Given the description of an element on the screen output the (x, y) to click on. 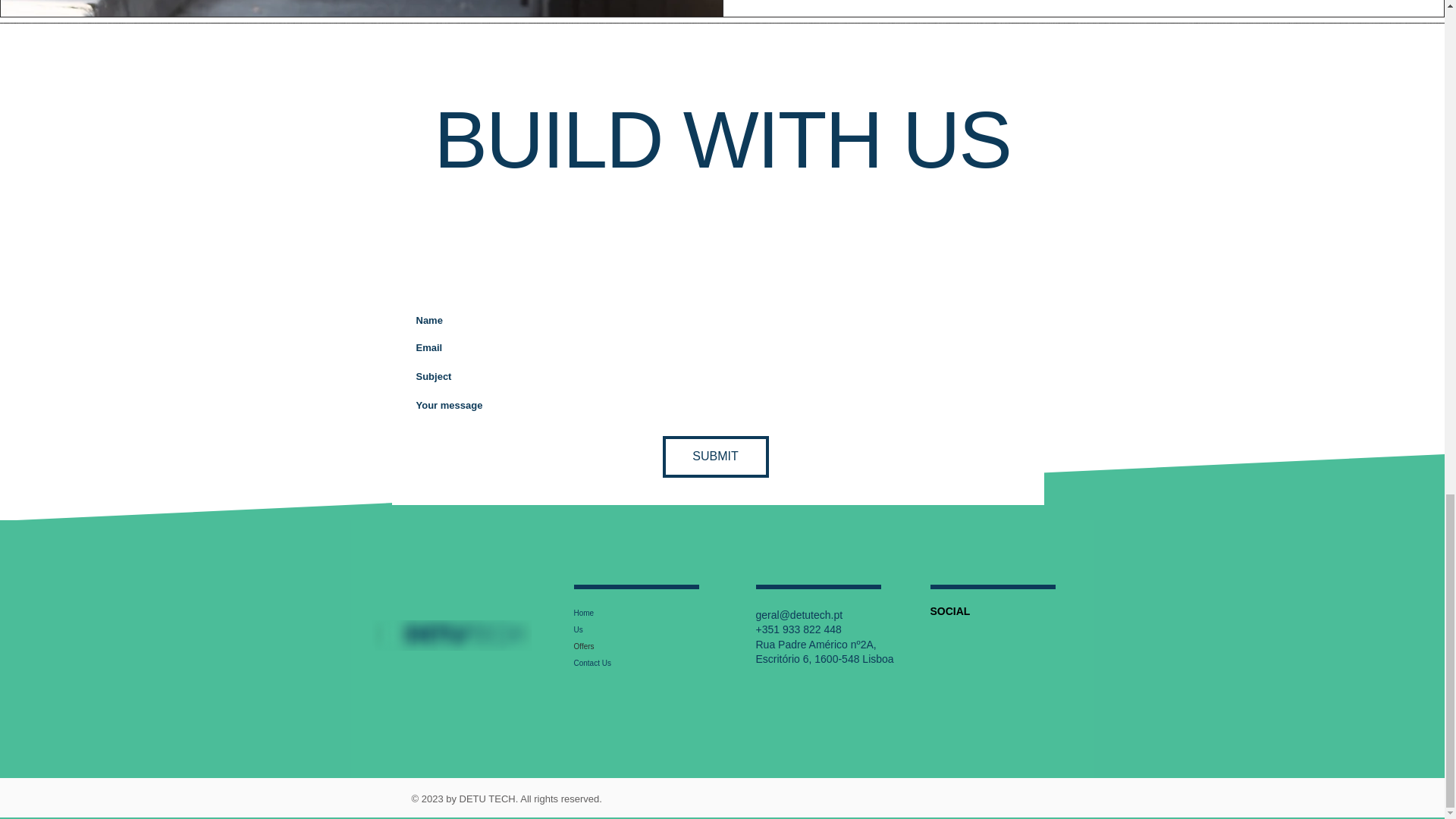
SUBMIT (715, 456)
Us (618, 629)
Contact Us (618, 663)
Home (618, 613)
